Given the description of an element on the screen output the (x, y) to click on. 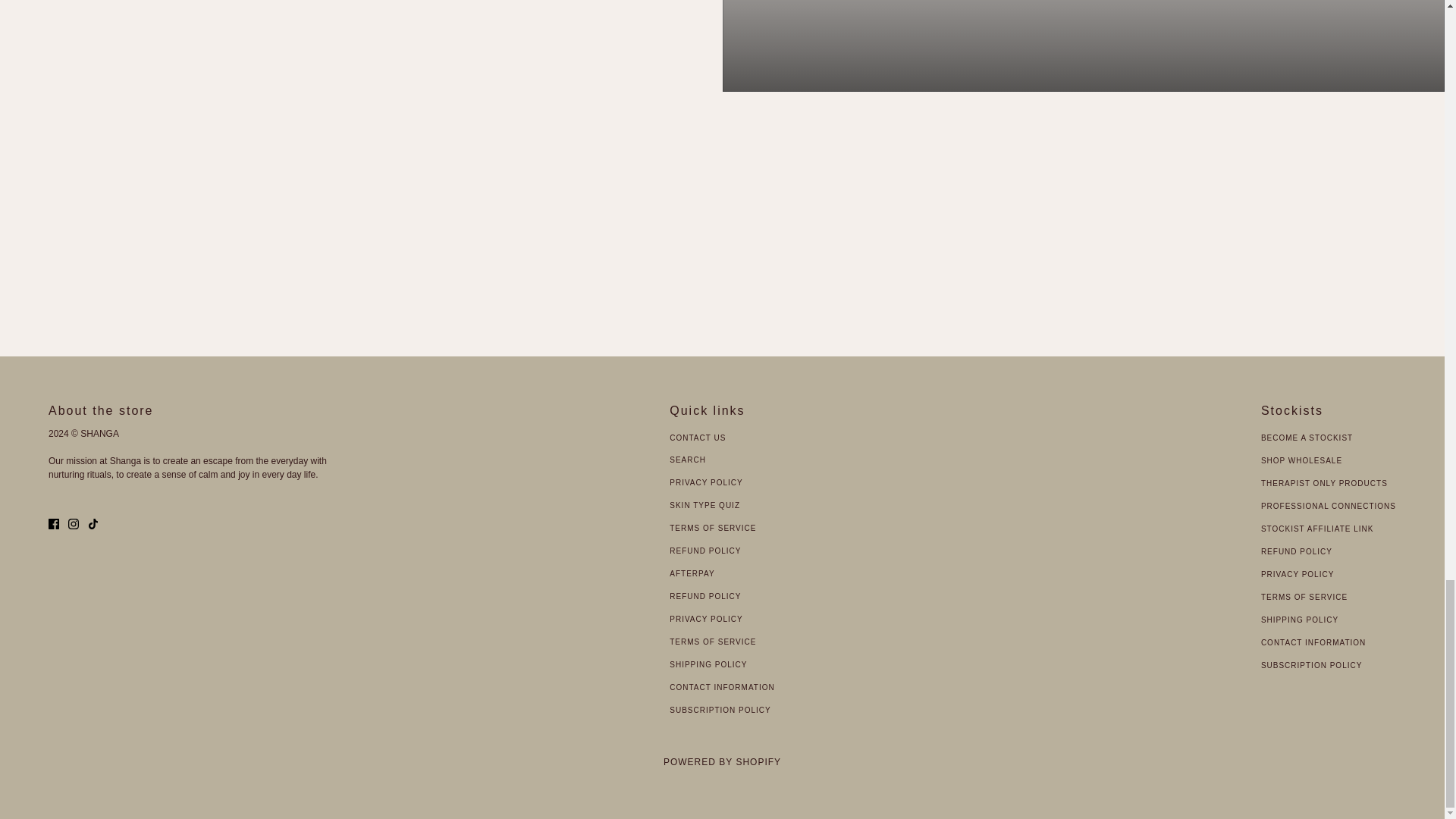
Shop Wholesale (1301, 460)
Therapist Only Products  (1323, 483)
Professional  Connections (1328, 506)
Privacy policy (705, 619)
Stockist affiliate link (1317, 528)
Become a Stockist (1306, 438)
Refund policy (1296, 551)
Privacy policy (1296, 574)
Refund policy (705, 551)
Refund policy (705, 596)
Privacy Policy (705, 482)
Terms of Service (712, 528)
Skin Type Quiz (704, 505)
Terms of service (712, 642)
Afterpay (691, 573)
